Given the description of an element on the screen output the (x, y) to click on. 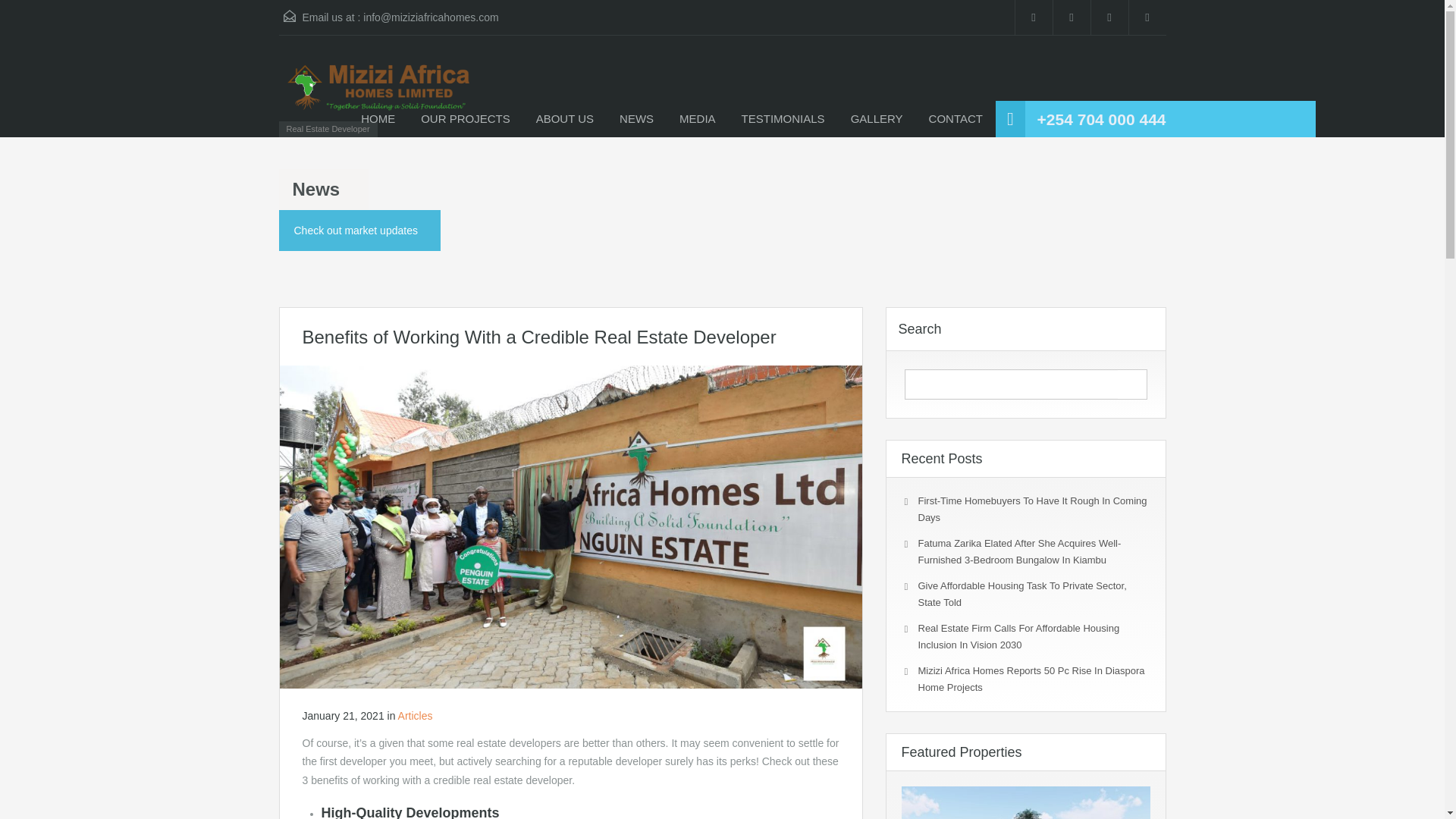
OUR PROJECTS (464, 118)
MEDIA (697, 118)
Benefits of Working With a Credible Real Estate Developer (570, 526)
Articles (414, 715)
First-Time Homebuyers To Have It Rough In Coming Days (1032, 509)
TESTIMONIALS (783, 118)
NEWS (636, 118)
Make a Call (1101, 119)
